Given the description of an element on the screen output the (x, y) to click on. 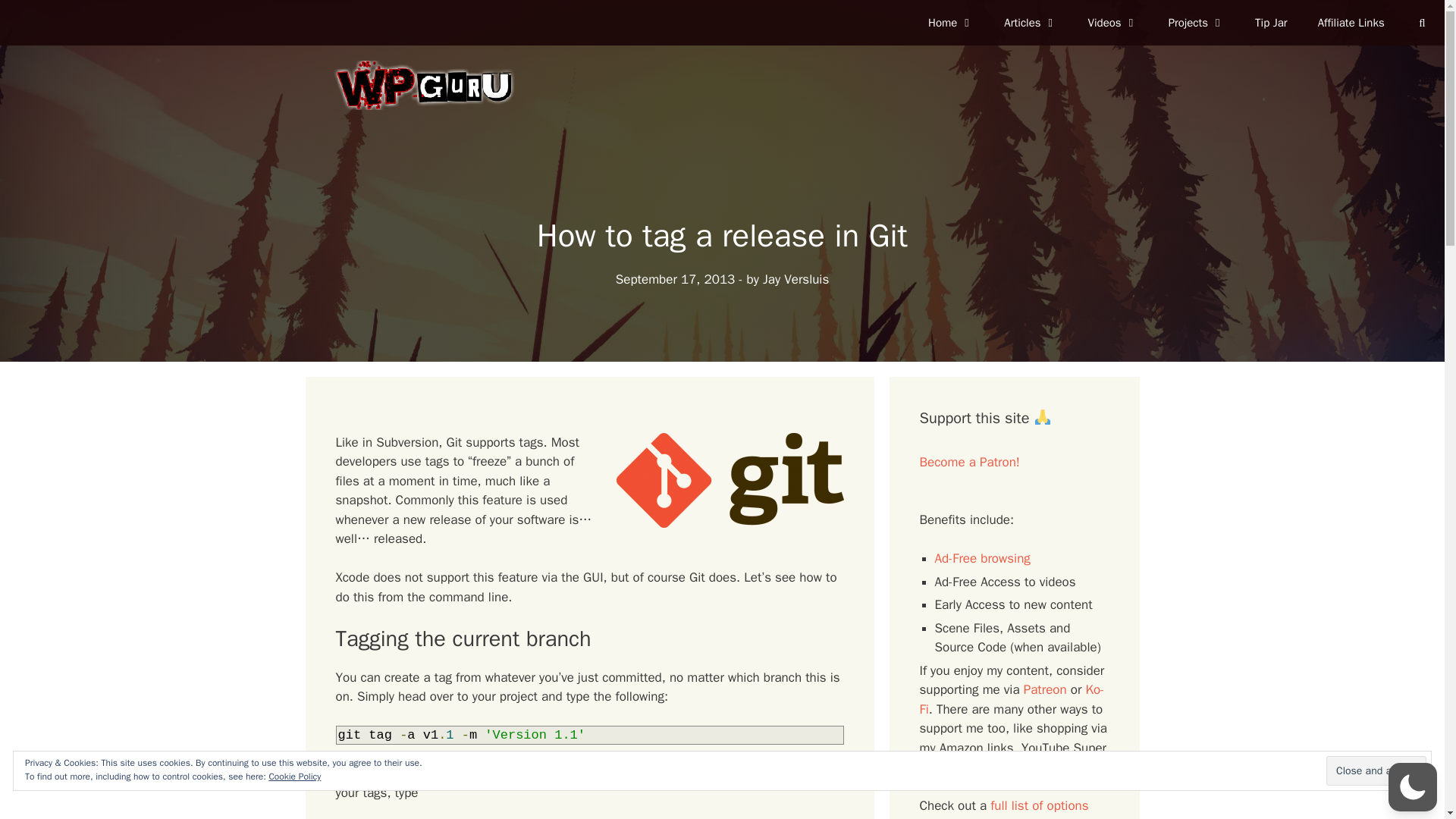
Home (950, 22)
Tip Jar (1271, 22)
Affiliate Links (1351, 22)
Articles (1029, 22)
Videos (1113, 22)
Close and accept (1376, 770)
Projects (1196, 22)
View all posts by Jay Versluis (795, 279)
